Given the description of an element on the screen output the (x, y) to click on. 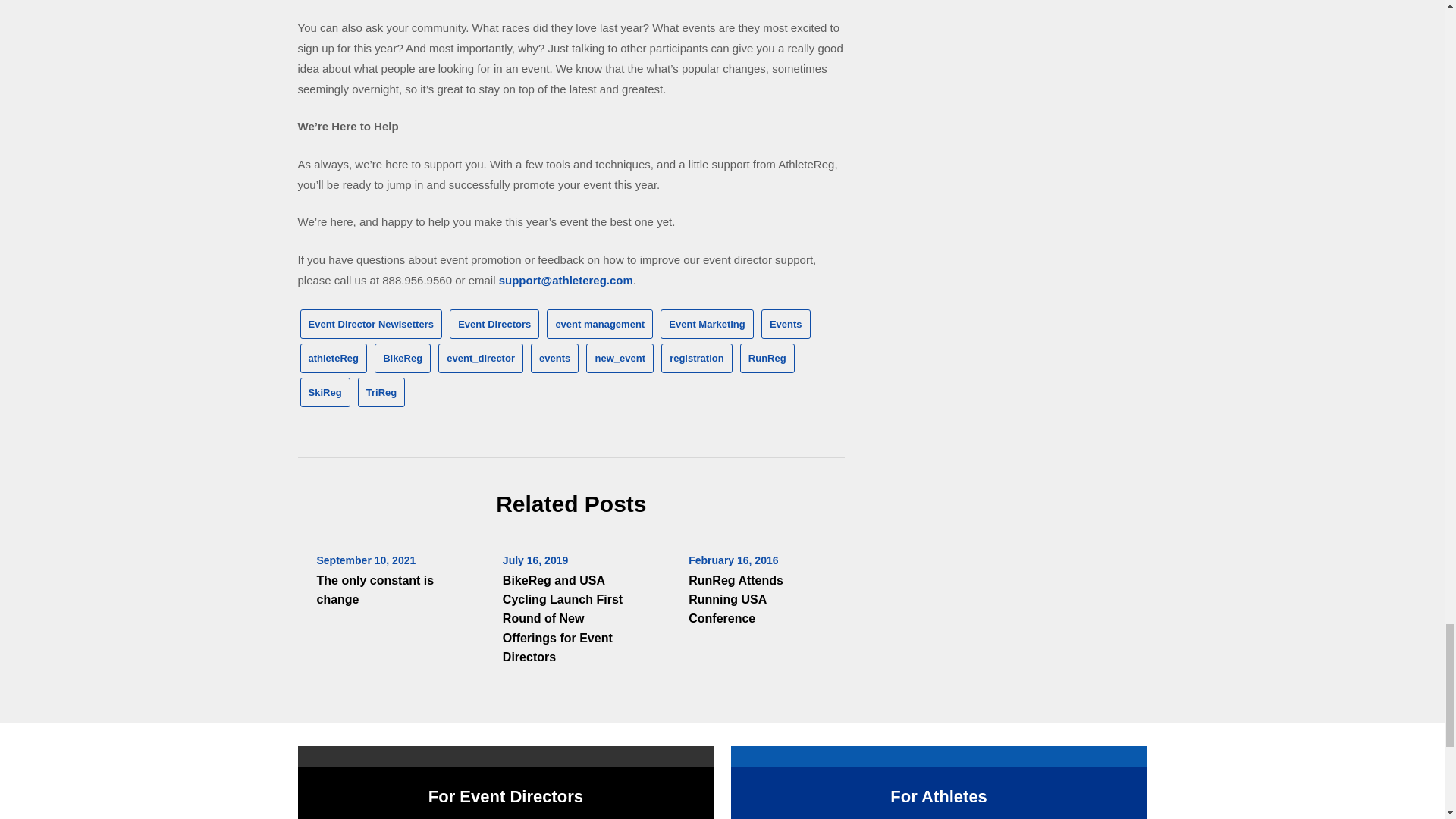
events (554, 358)
Event Directors (493, 324)
Events (785, 324)
registration (696, 358)
The only constant is change (375, 590)
athleteReg (332, 358)
Event Marketing (706, 324)
SkiReg (324, 392)
BikeReg (402, 358)
